Given the description of an element on the screen output the (x, y) to click on. 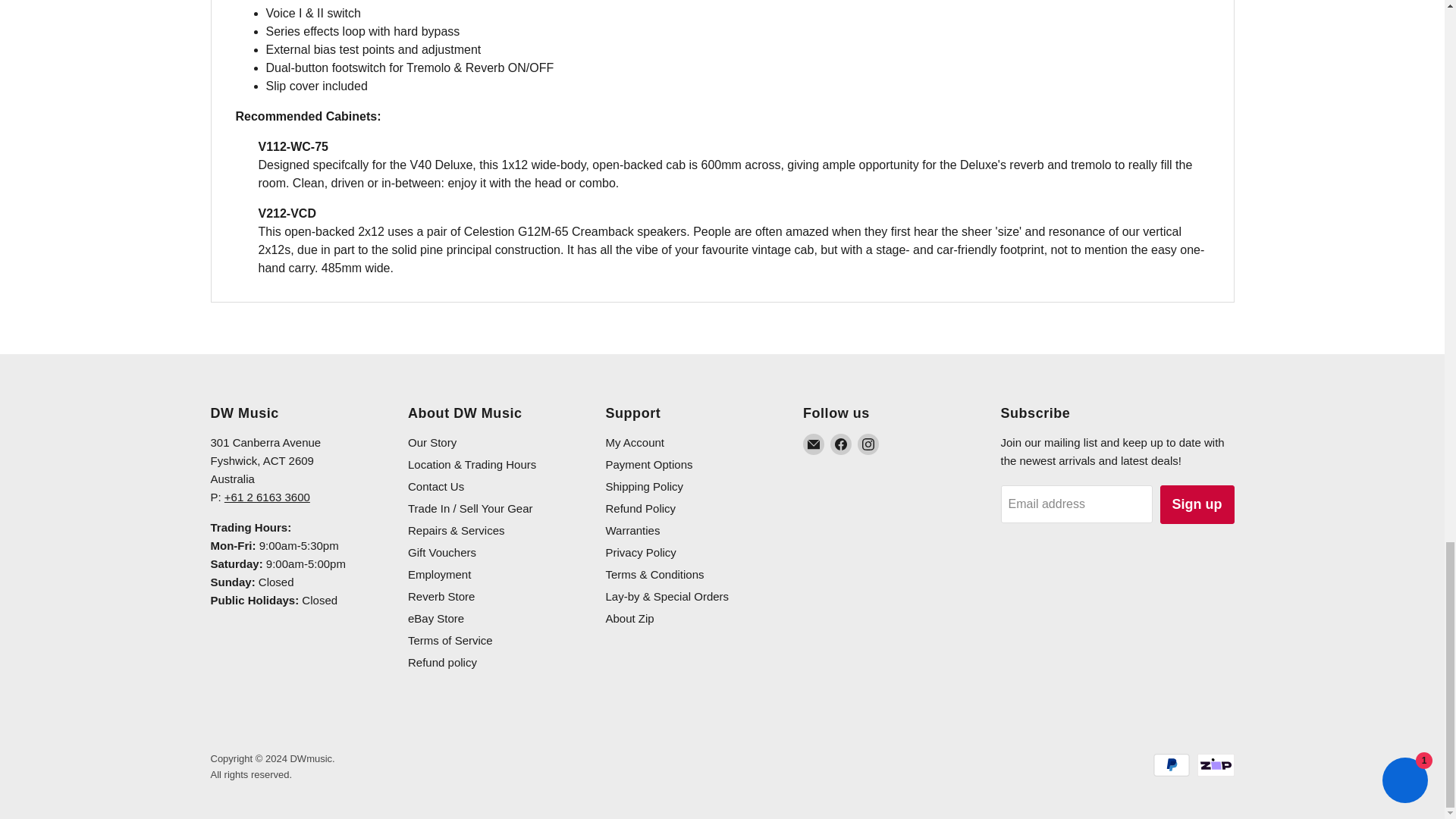
Instagram (868, 444)
Facebook (840, 444)
Email (813, 444)
